Given the description of an element on the screen output the (x, y) to click on. 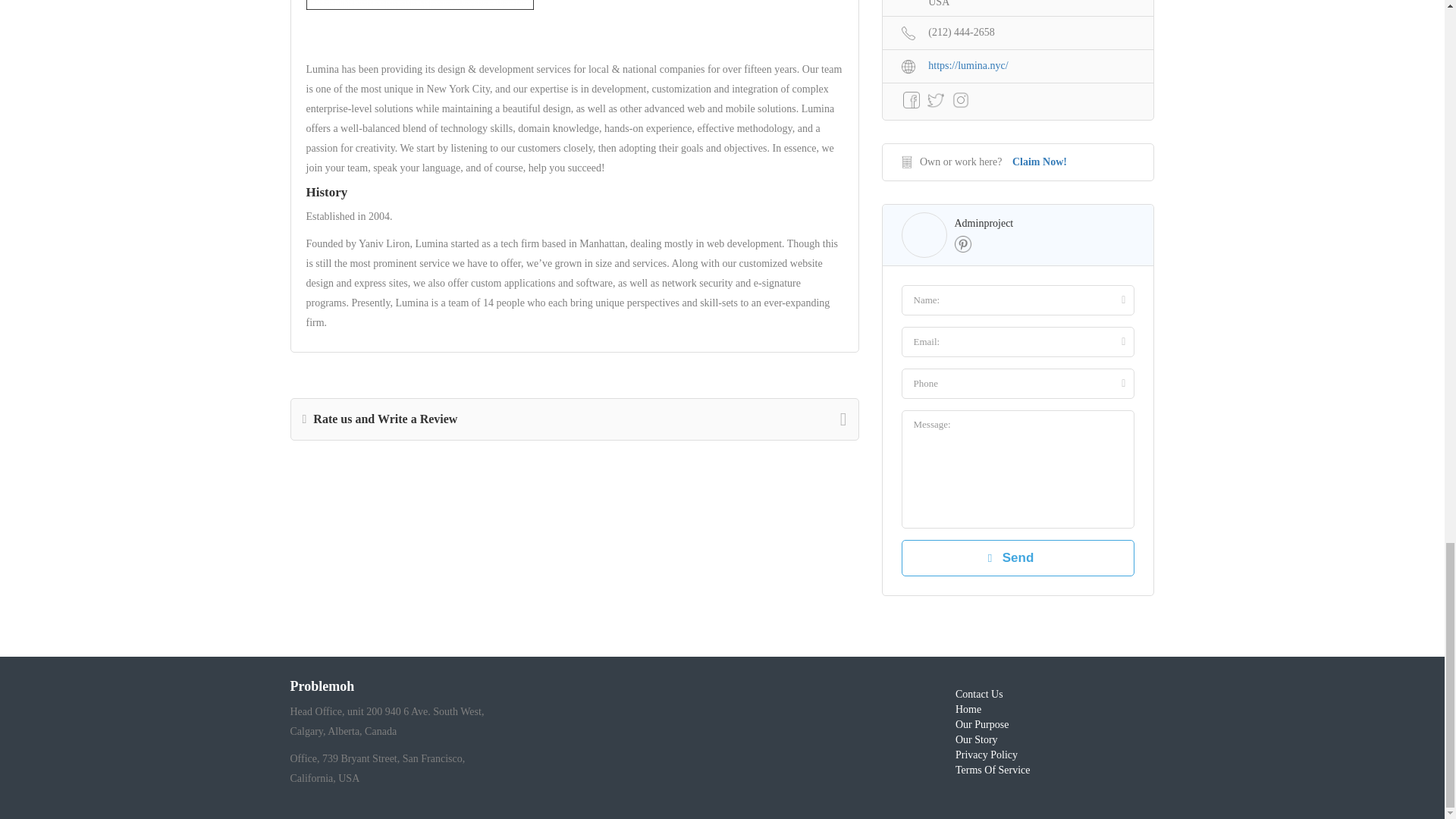
1123 Broadway, New York, NY 10010, USA (1018, 5)
Send (1017, 557)
